Given the description of an element on the screen output the (x, y) to click on. 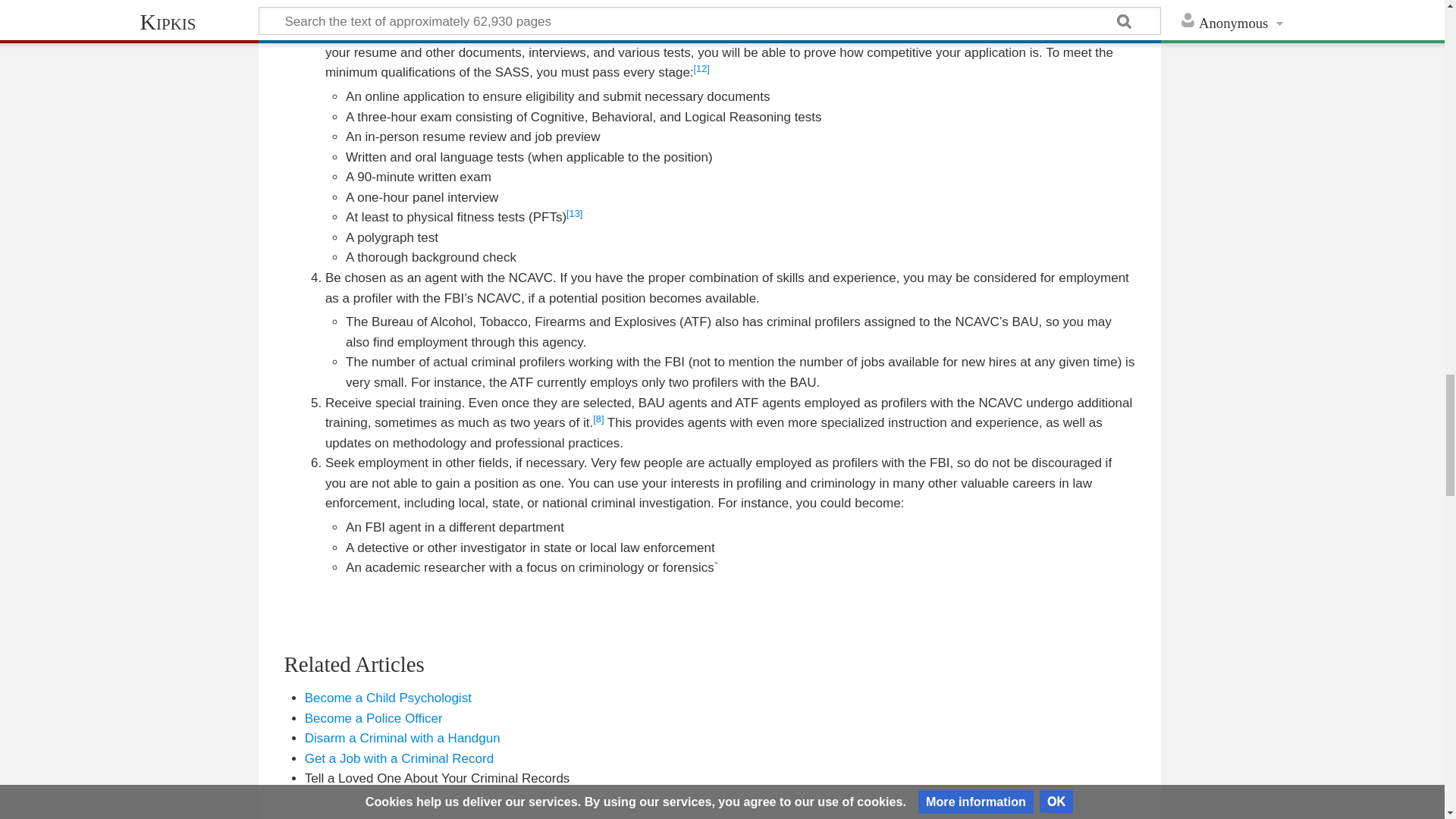
Become a Child Psychologist (387, 698)
Become a Police Officer (373, 718)
Disarm a Criminal with a Handgun (402, 738)
Become a Police Officer (373, 718)
Disarm a Criminal with a Handgun (402, 738)
Become a Child Psychologist (387, 698)
Get a Job with a Criminal Record (398, 758)
Get a Job with a Criminal Record (398, 758)
